Given the description of an element on the screen output the (x, y) to click on. 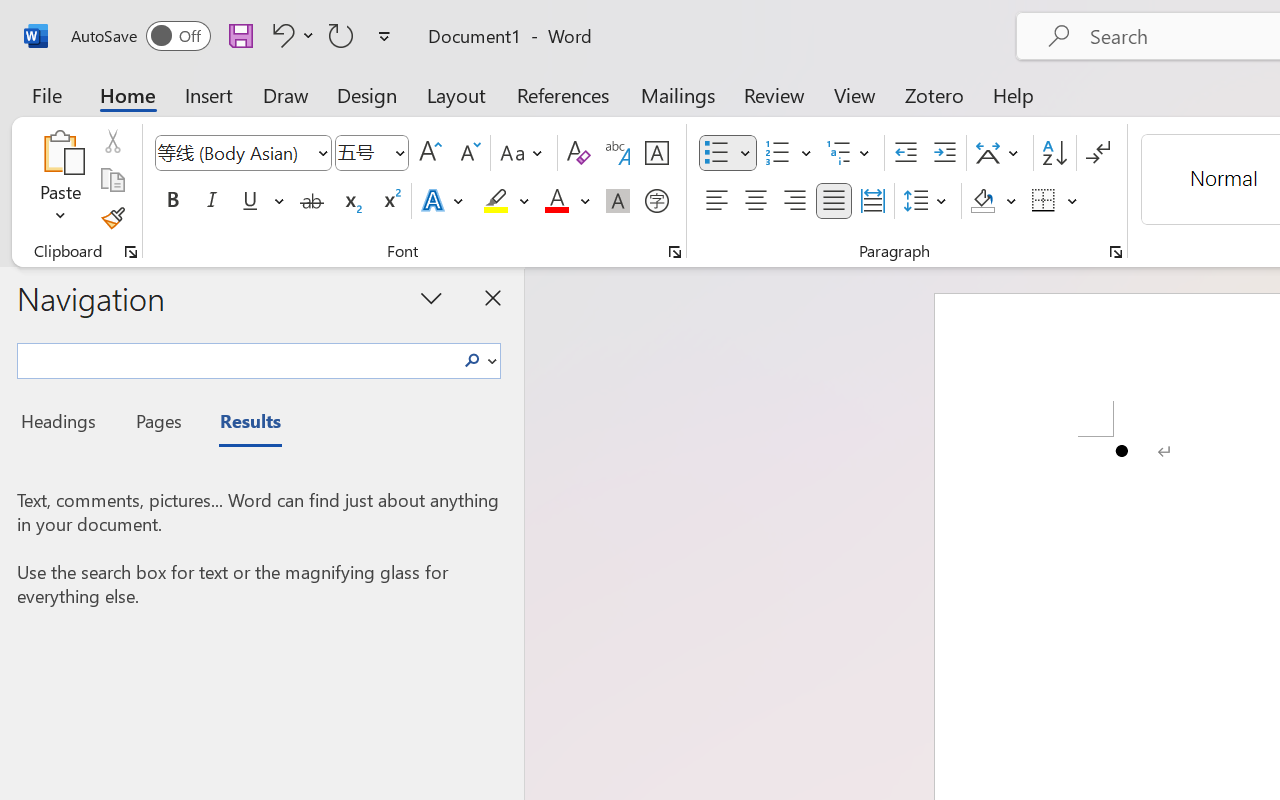
Undo Bullet Default (280, 35)
Repeat Bullet Default (341, 35)
